Given the description of an element on the screen output the (x, y) to click on. 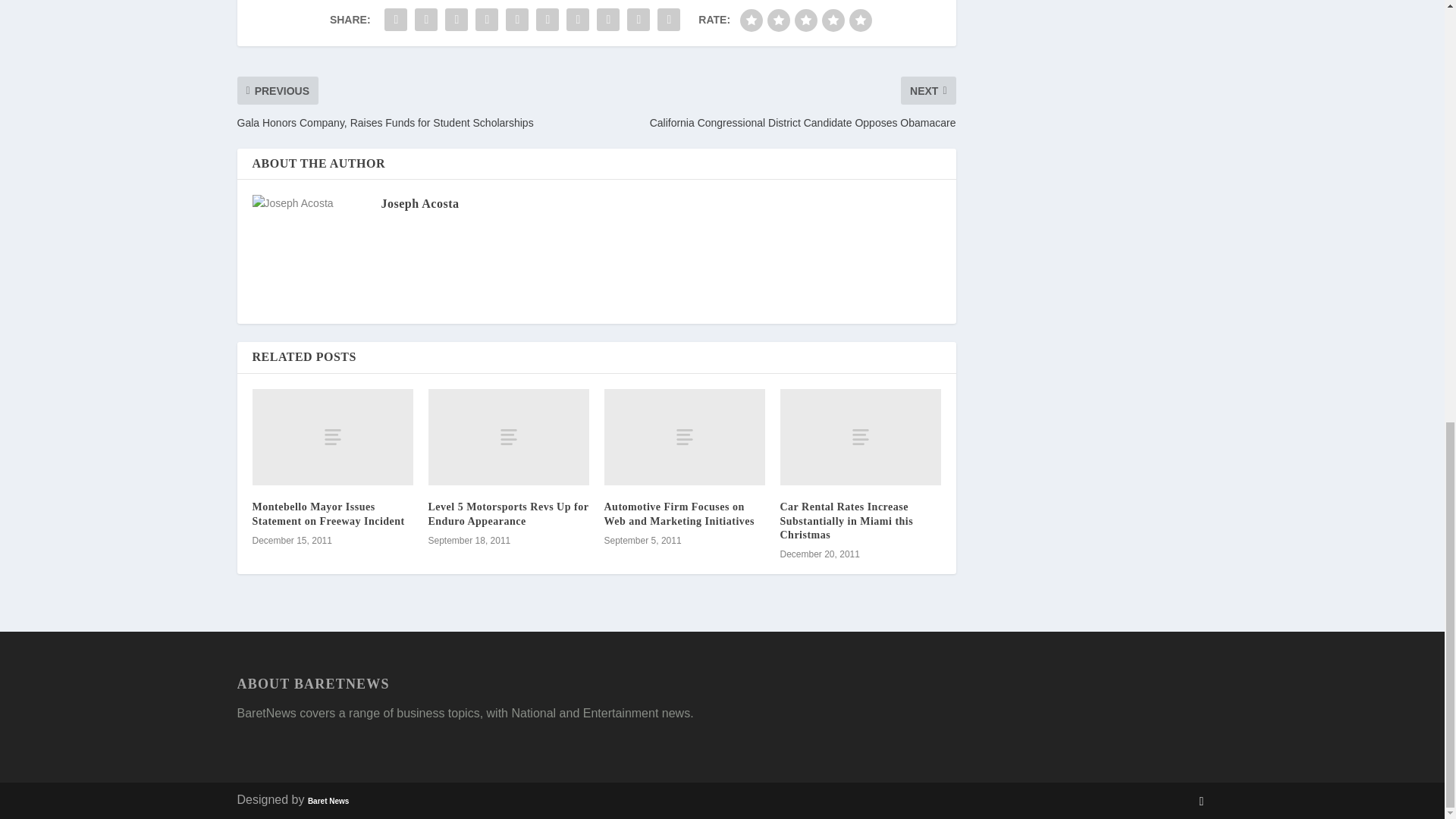
poor (778, 20)
bad (750, 20)
Share "Scrubblade Windshield Wipers Cited in Expo" via Print (668, 19)
Share "Scrubblade Windshield Wipers Cited in Expo" via Email (638, 19)
